Given the description of an element on the screen output the (x, y) to click on. 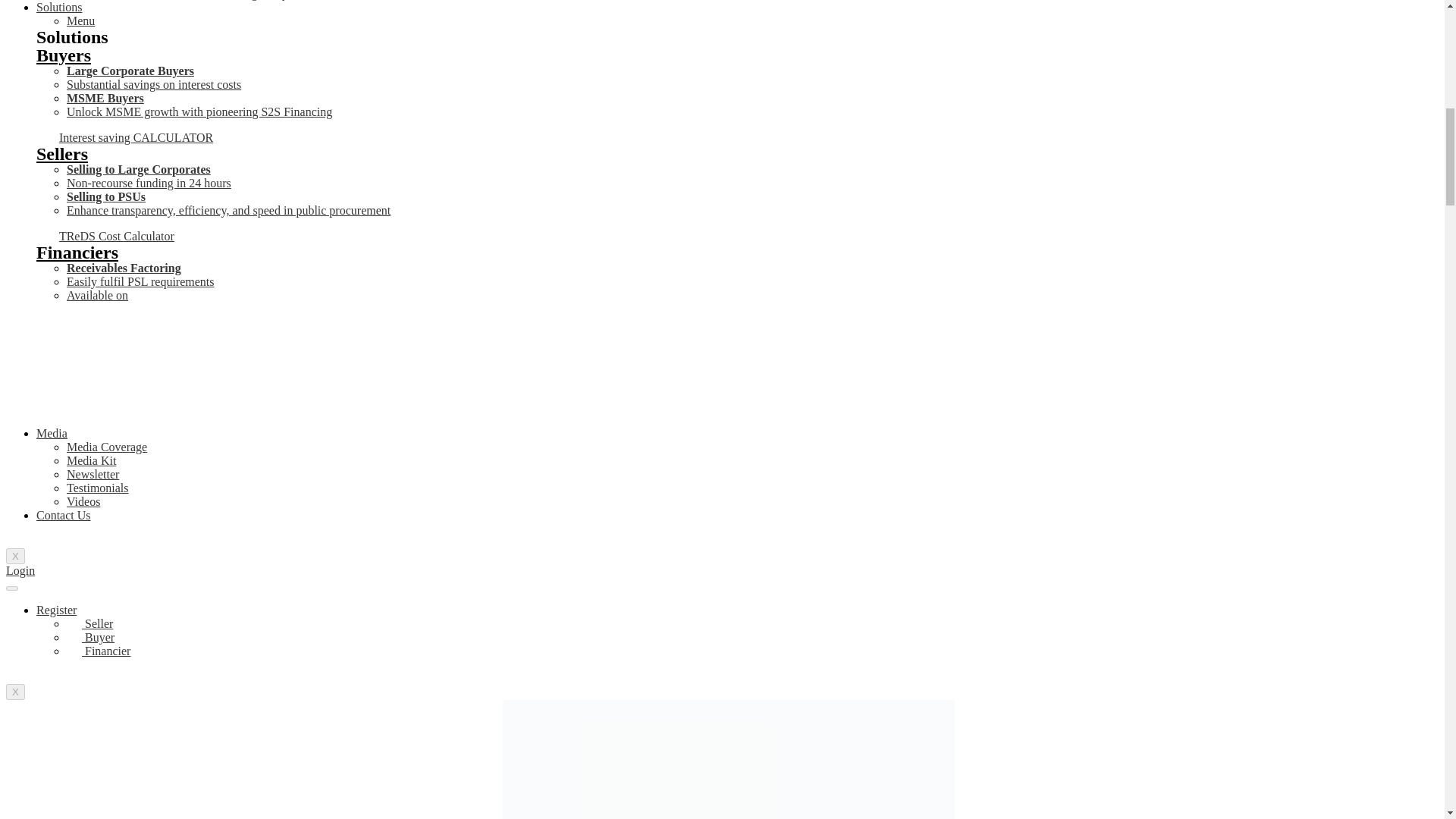
Menu (80, 20)
Unlock MSME growth with pioneering S2S Financing (198, 111)
Substantial savings on interest costs (153, 83)
Buyers (63, 55)
Solutions (58, 6)
Large Corporate Buyers (129, 70)
MSME Buyers (105, 97)
